Given the description of an element on the screen output the (x, y) to click on. 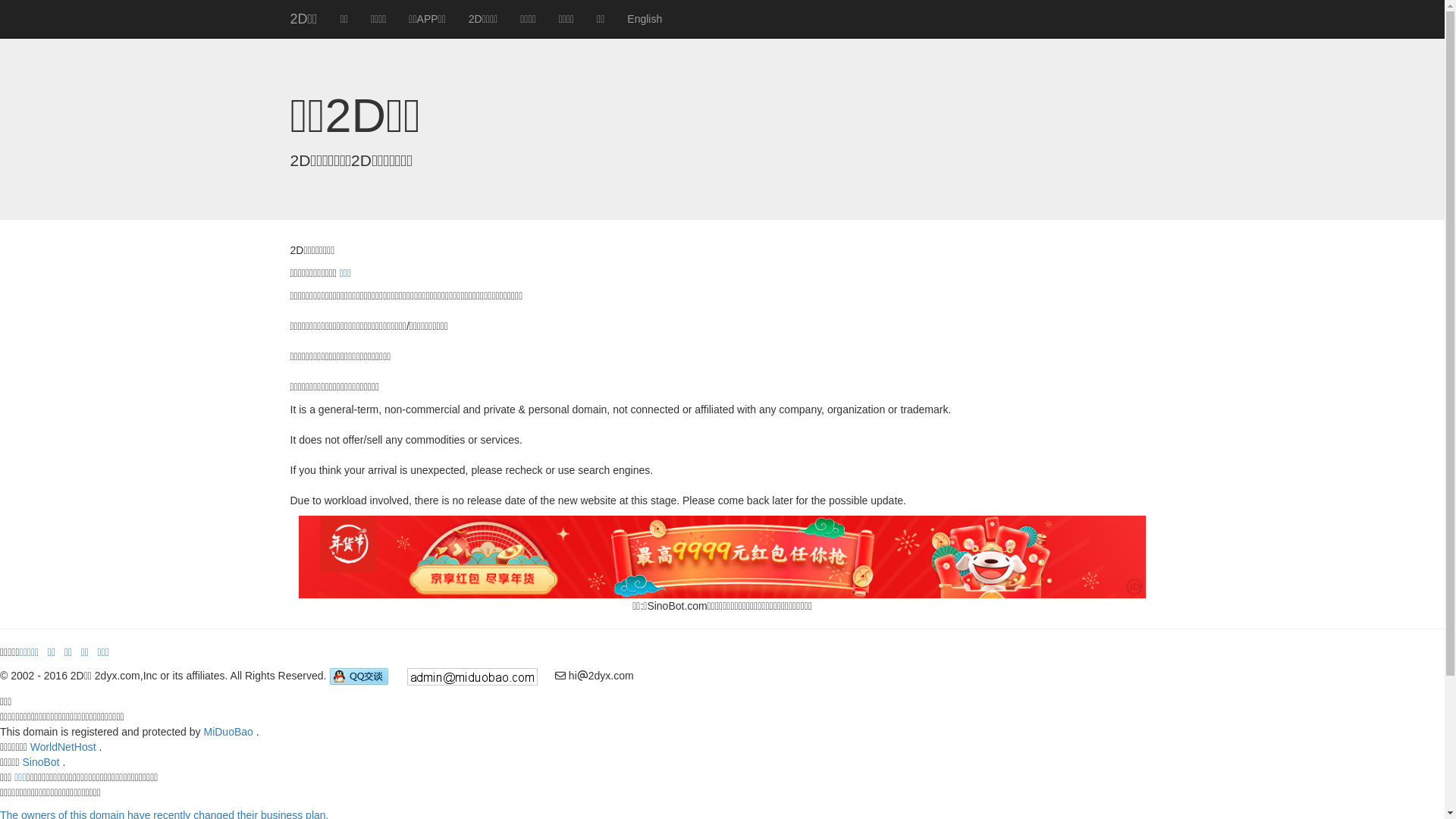
MiDuoBao Element type: text (227, 731)
English Element type: text (644, 18)
SinoBot Element type: text (40, 762)
WorldNetHost Element type: text (63, 746)
